Given the description of an element on the screen output the (x, y) to click on. 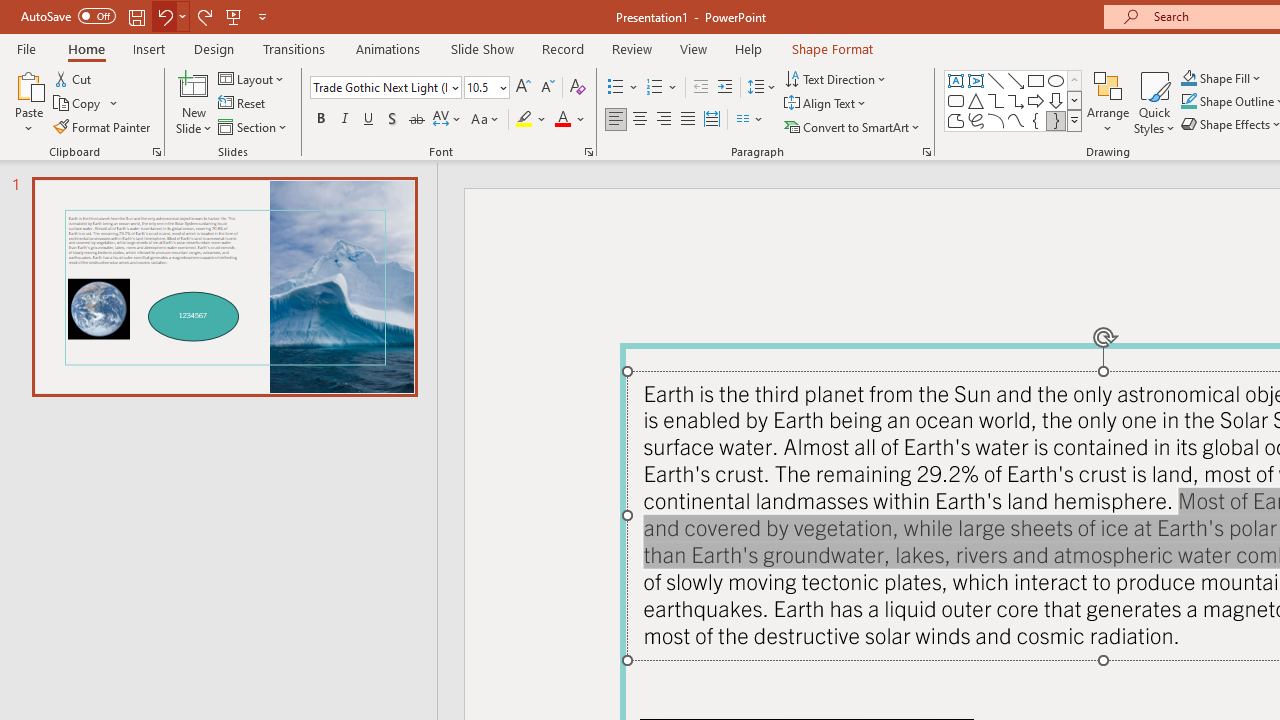
Shape Fill (1221, 78)
Rectangle (1035, 80)
Oval (1055, 80)
Shape Fill Aqua, Accent 2 (1188, 78)
Text Direction (836, 78)
Columns (750, 119)
Clear Formatting (577, 87)
Isosceles Triangle (975, 100)
Cut (73, 78)
Increase Indent (725, 87)
